Given the description of an element on the screen output the (x, y) to click on. 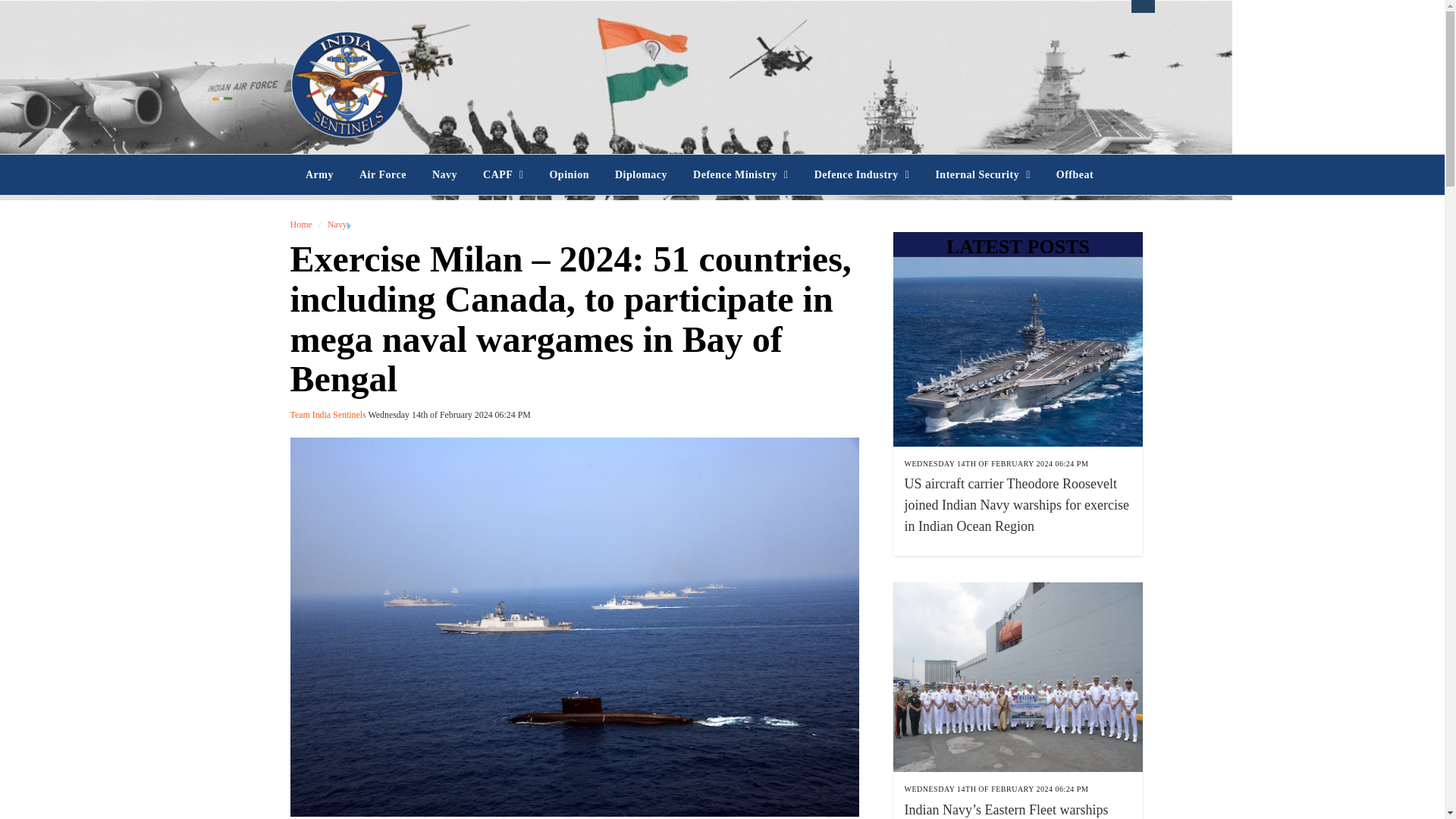
Navy (444, 174)
Opinion (568, 174)
Air Force (382, 174)
Defence Ministry (740, 174)
Diplomacy (640, 174)
Army (319, 174)
Defence Industry (862, 174)
CAPF (502, 174)
Internal Security (981, 174)
